Given the description of an element on the screen output the (x, y) to click on. 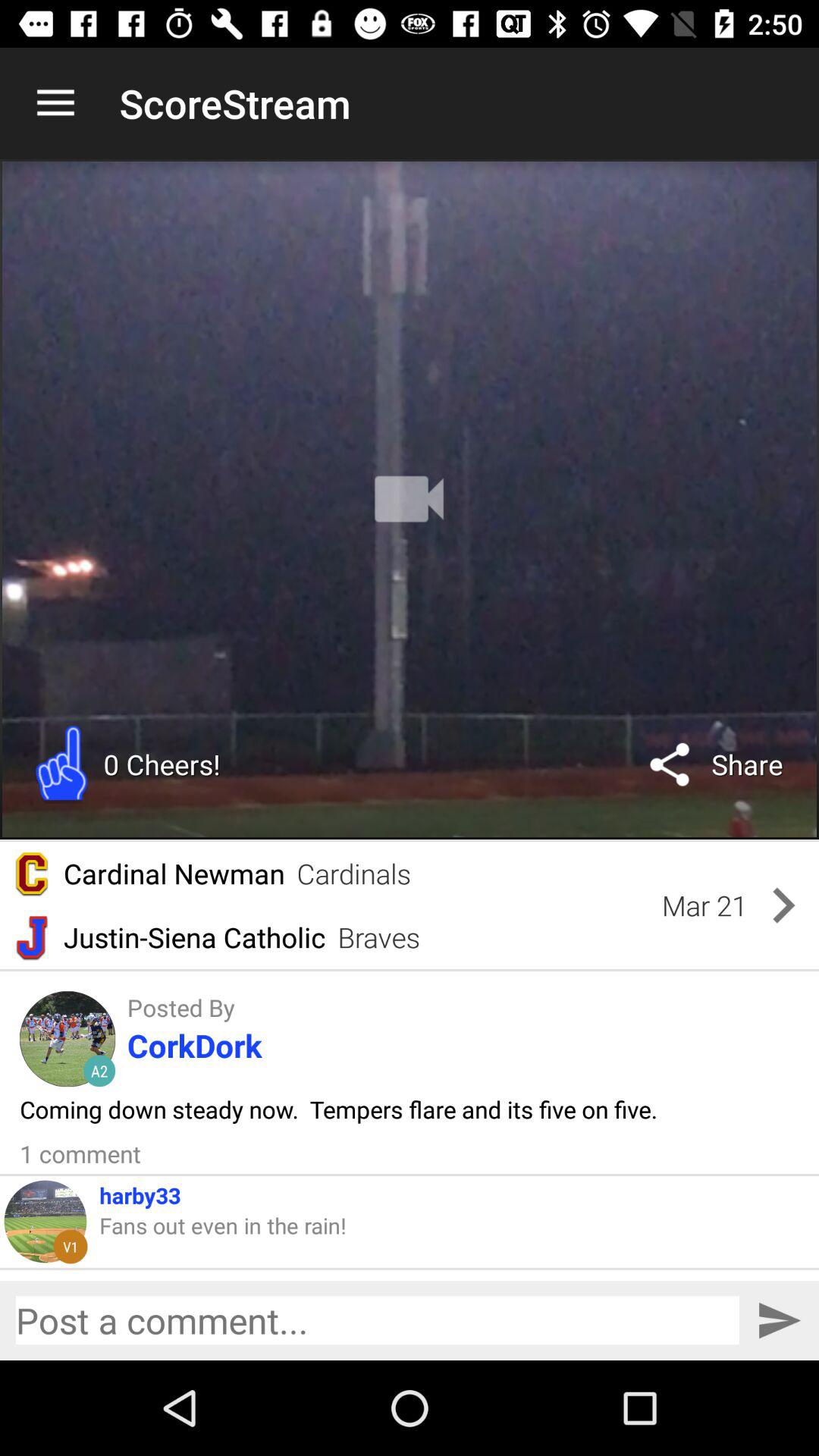
toggle autoplay option (409, 499)
